Given the description of an element on the screen output the (x, y) to click on. 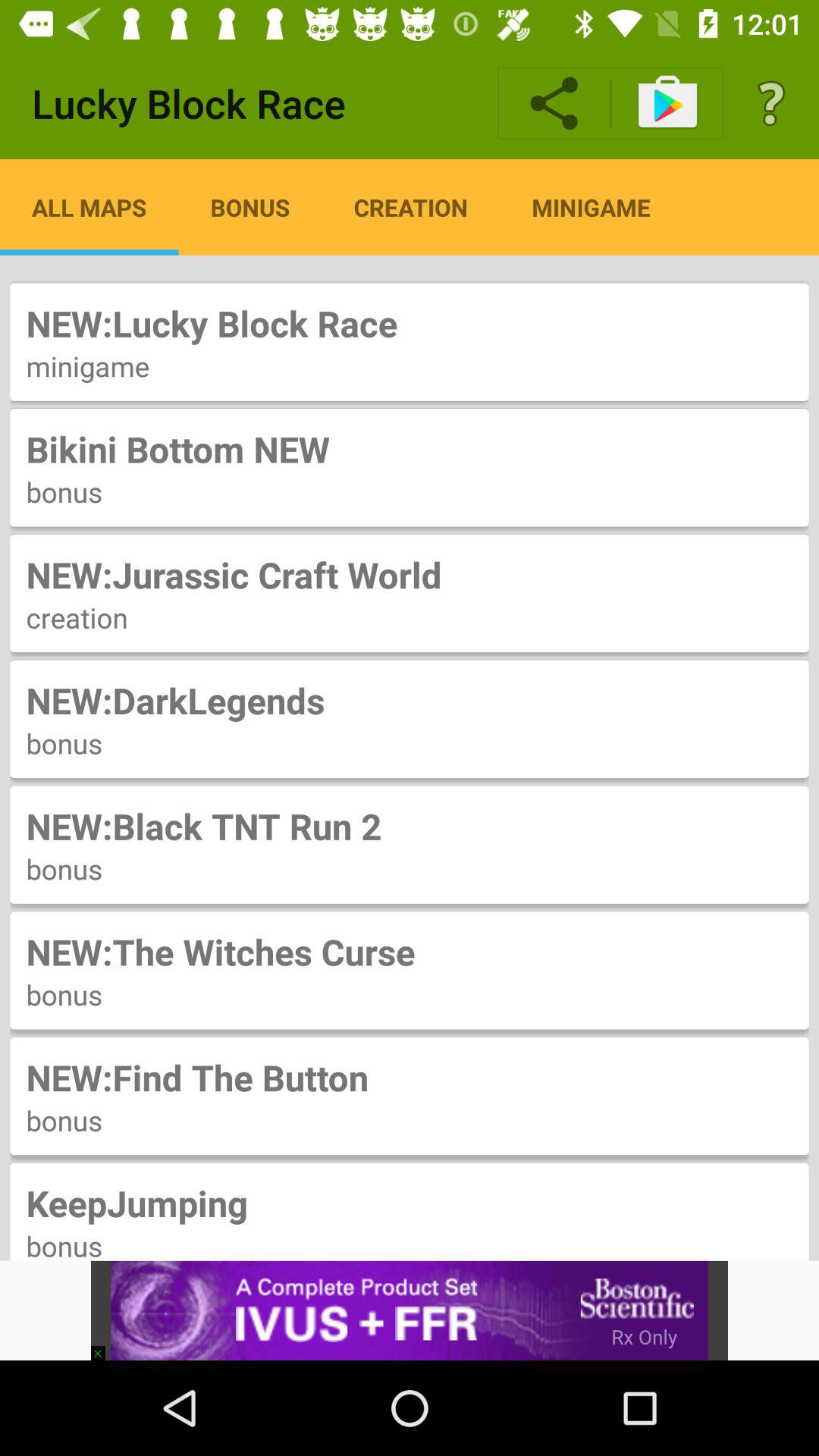
swipe until bikini bottom new item (409, 448)
